Given the description of an element on the screen output the (x, y) to click on. 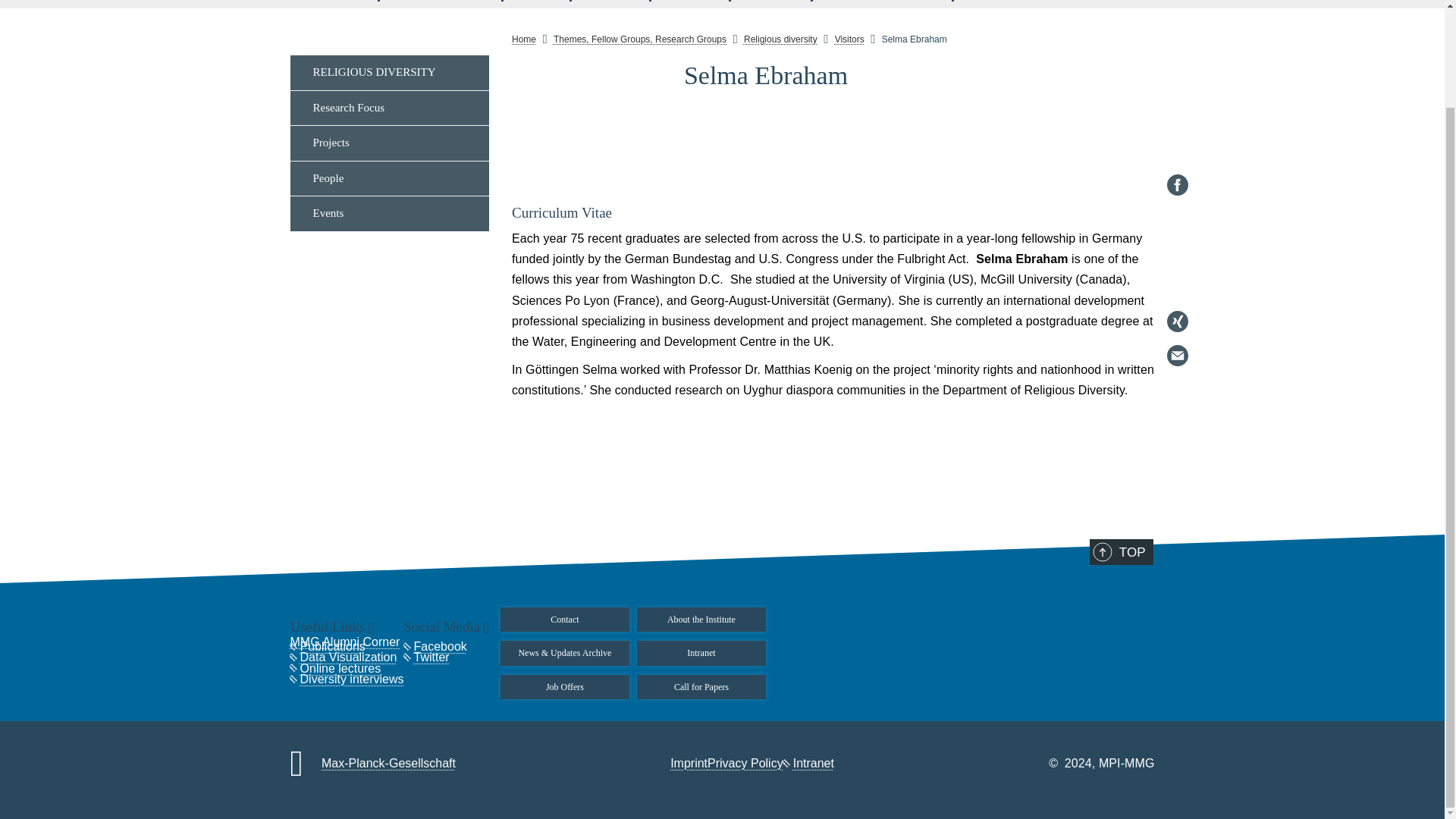
Facebook (1177, 71)
Reddit (1177, 139)
Print (1177, 276)
LinkedIn (1177, 106)
Xing (1177, 208)
E-Mail (1177, 241)
Twitter (1177, 173)
RESEARCH (329, 0)
